Given the description of an element on the screen output the (x, y) to click on. 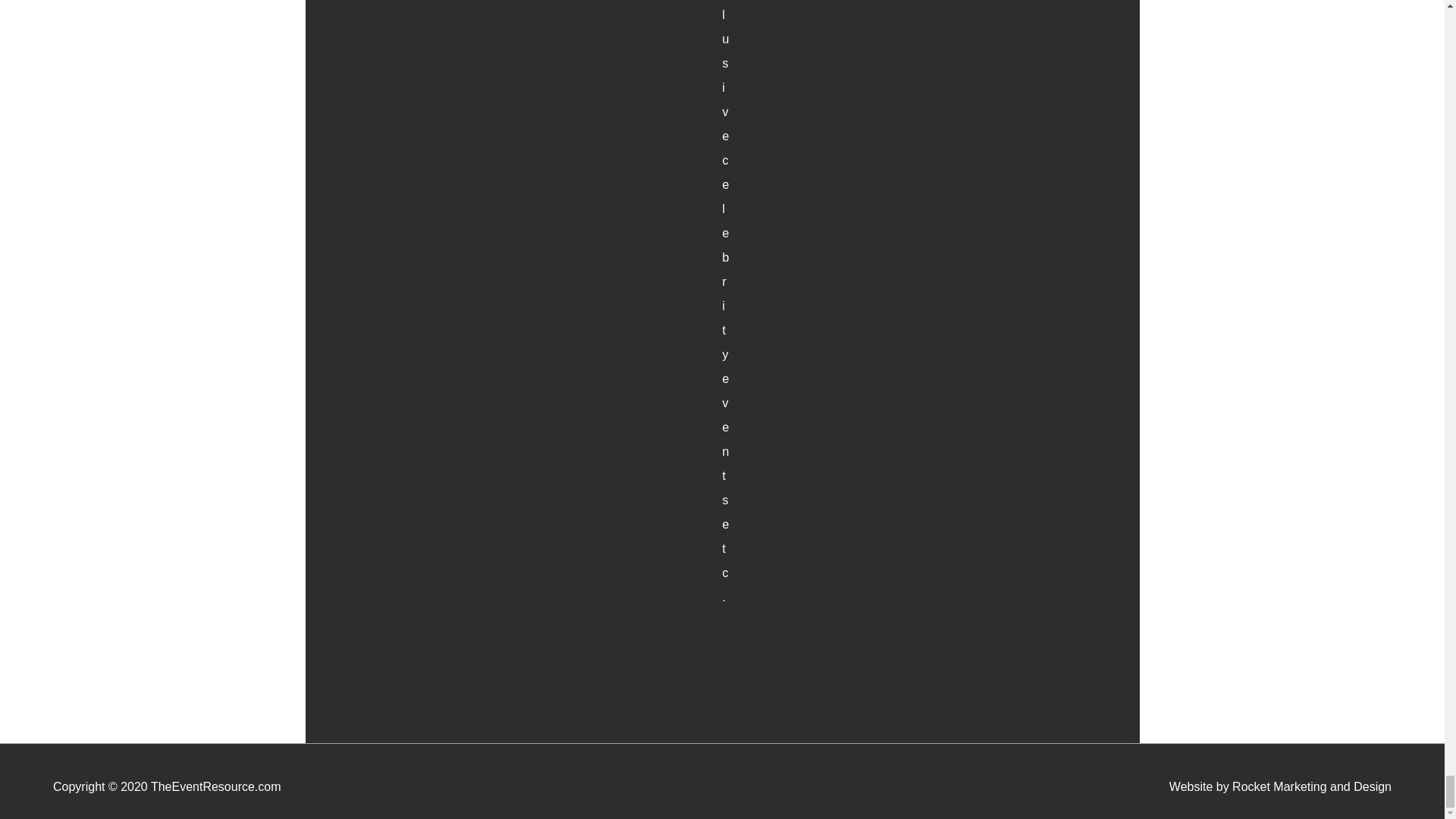
Rocket Marketing and Design (1311, 786)
TheEventResource.com (216, 786)
